Given the description of an element on the screen output the (x, y) to click on. 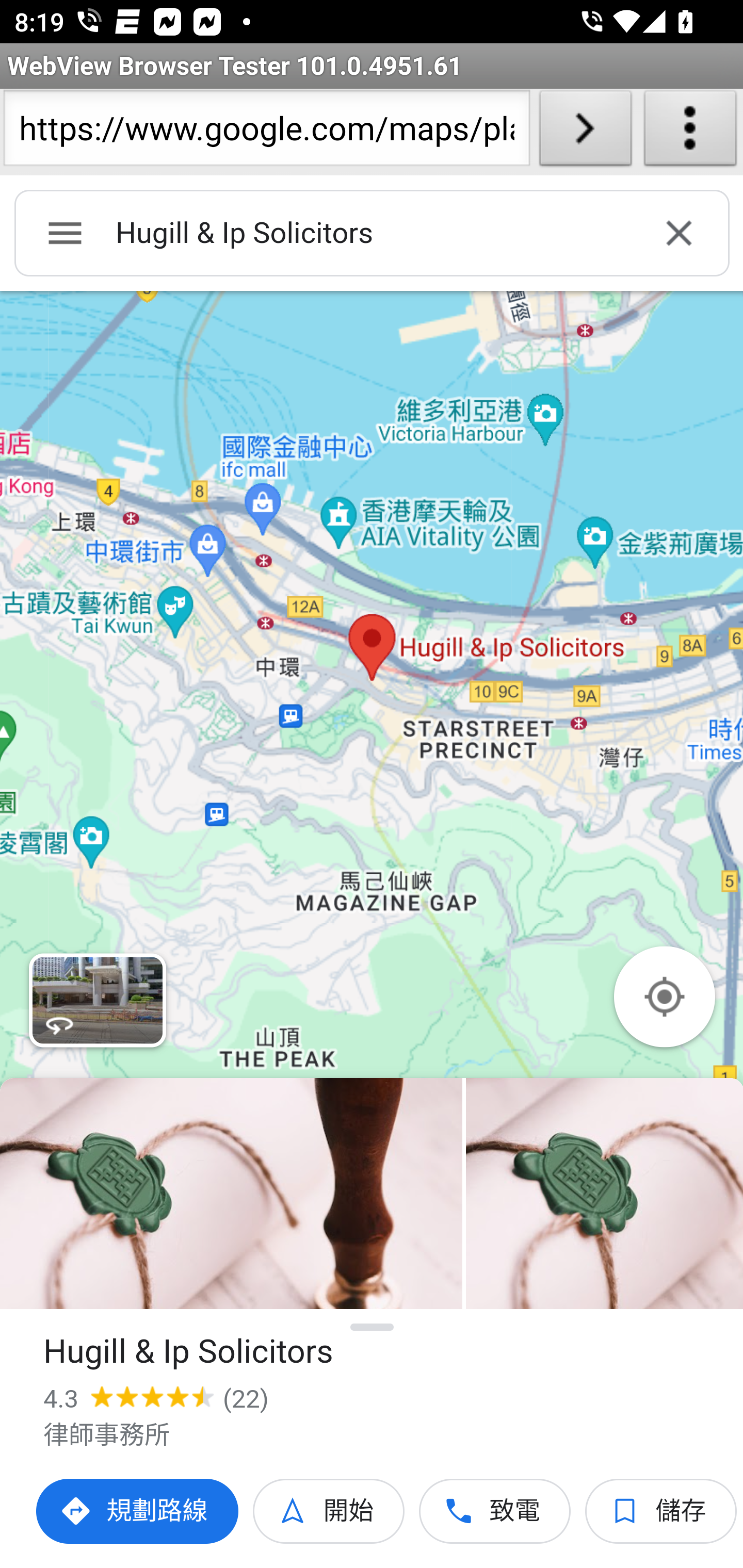
Load URL (585, 132)
About WebView (690, 132)
第 1 張相片 (共 10 張) (231, 1193)
第 2 張相片 (共 10 張) (604, 1193)
顯示詳細資料 (372, 1327)
前往Hugill & Ip Solicitors的路線 (137, 1511)
開始 (329, 1511)
致電「Hugill & Ip Solicitors」  致電 (495, 1511)
將「Hugill & Ip Solicitors」儲存至清單中 (661, 1511)
